Given the description of an element on the screen output the (x, y) to click on. 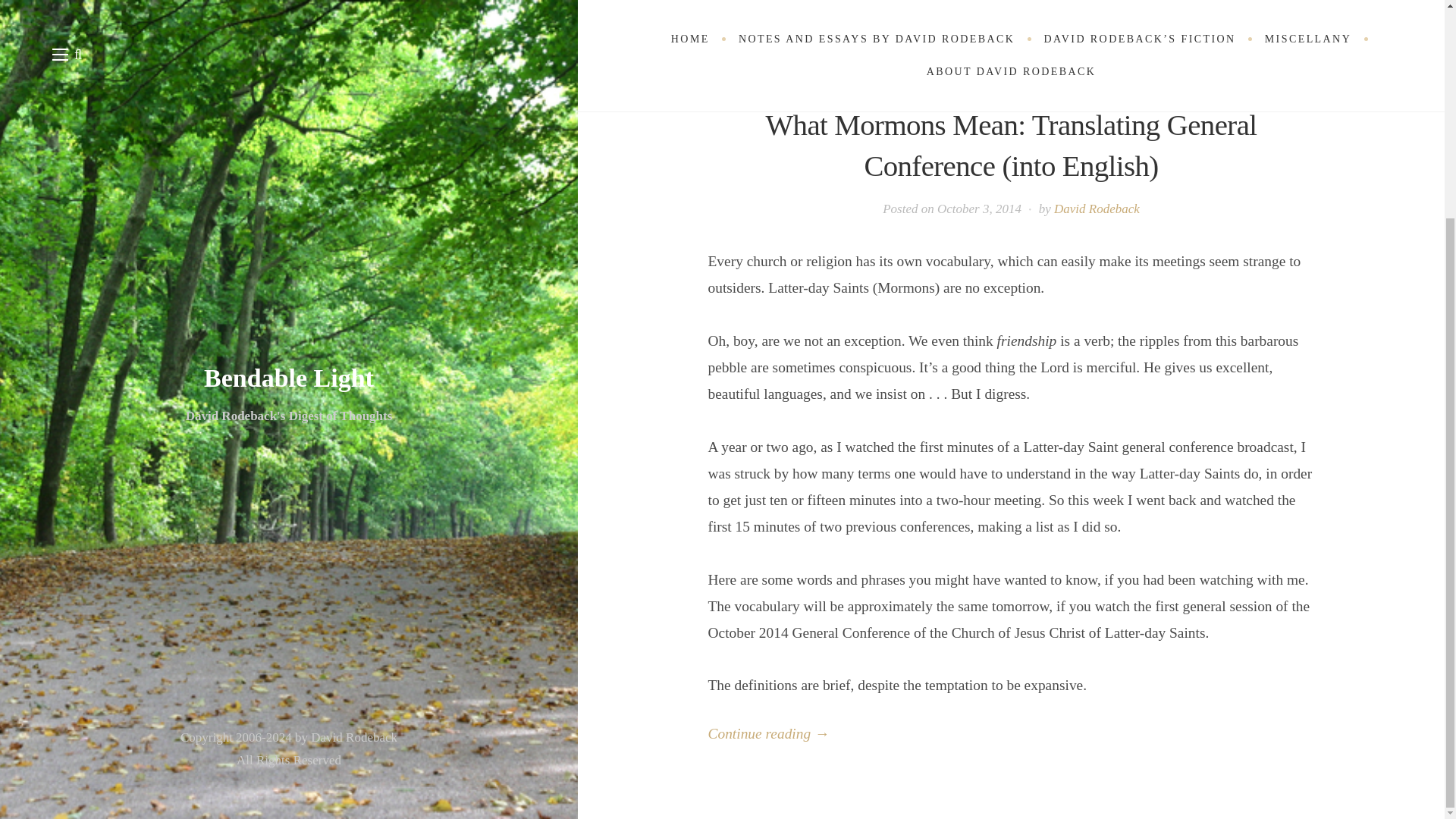
Bendable Light (288, 90)
David Rodeback (1097, 208)
